Given the description of an element on the screen output the (x, y) to click on. 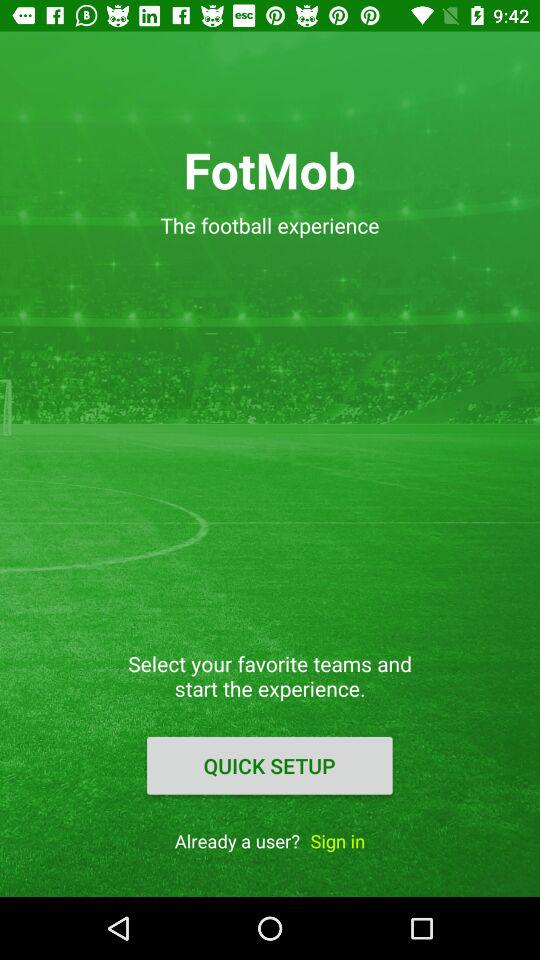
choose item above already a user? icon (269, 765)
